Given the description of an element on the screen output the (x, y) to click on. 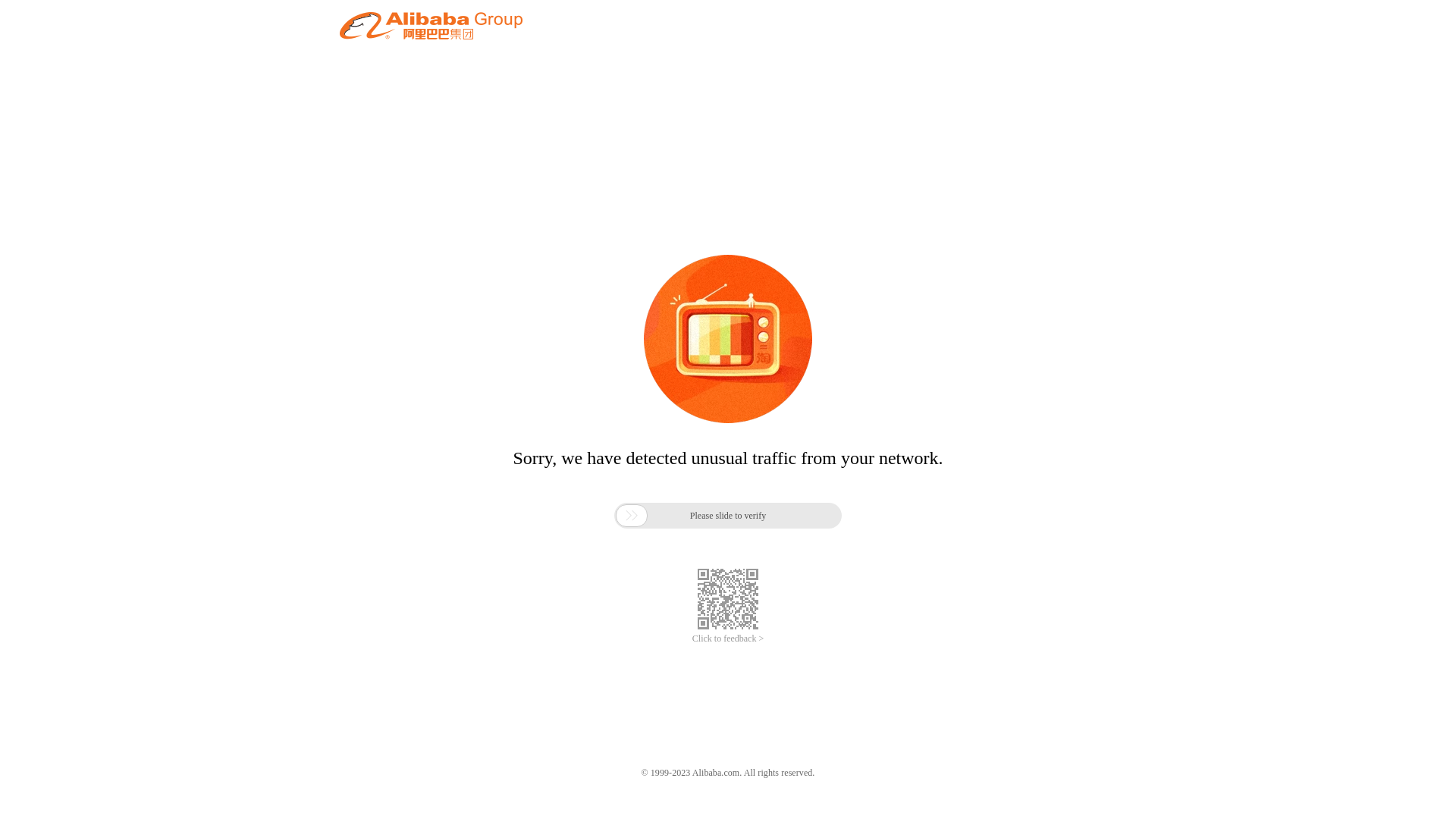
Click to feedback > Element type: text (727, 638)
